Given the description of an element on the screen output the (x, y) to click on. 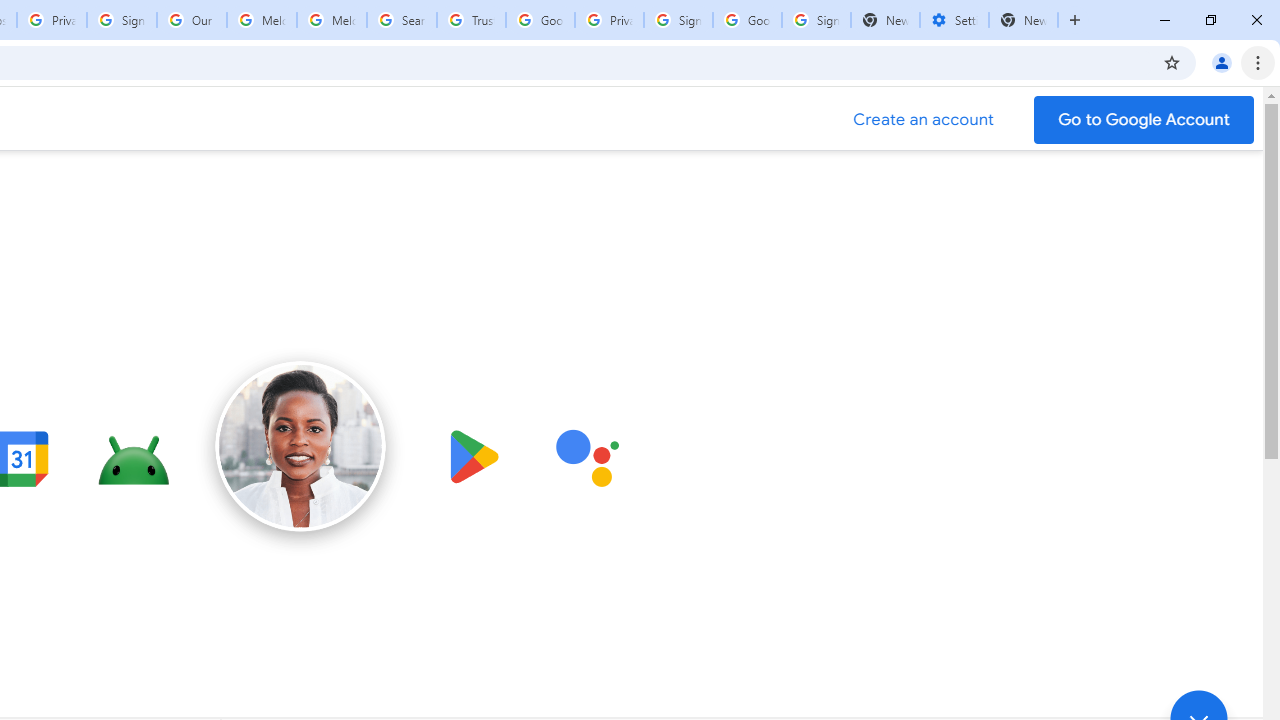
Sign in - Google Accounts (122, 20)
New Tab (1023, 20)
Search our Doodle Library Collection - Google Doodles (401, 20)
Sign in - Google Accounts (816, 20)
Settings - Addresses and more (954, 20)
Sign in - Google Accounts (677, 20)
